Given the description of an element on the screen output the (x, y) to click on. 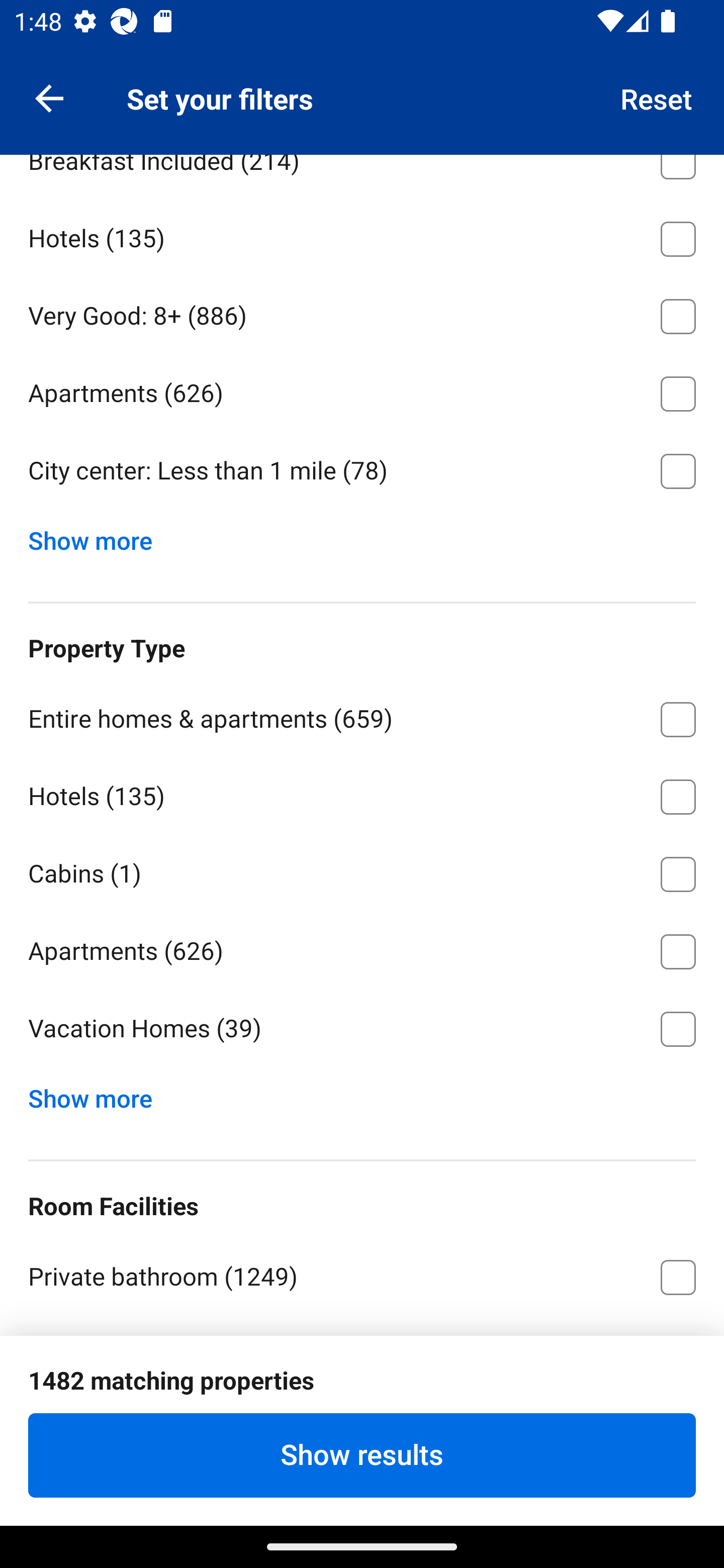
Navigate up (49, 97)
Reset (656, 97)
Breakfast Included ⁦(214) (361, 176)
Hotels ⁦(135) (361, 235)
Very Good: 8+ ⁦(886) (361, 312)
Apartments ⁦(626) (361, 390)
City center: Less than 1 mile ⁦(78) (361, 471)
Show more (97, 536)
Entire homes & apartments ⁦(659) (361, 715)
Hotels ⁦(135) (361, 793)
Cabins ⁦(1) (361, 870)
Apartments ⁦(626) (361, 947)
Vacation Homes ⁦(39) (361, 1028)
Show more (97, 1093)
Private bathroom ⁦(1249) (361, 1273)
Show results (361, 1454)
